Given the description of an element on the screen output the (x, y) to click on. 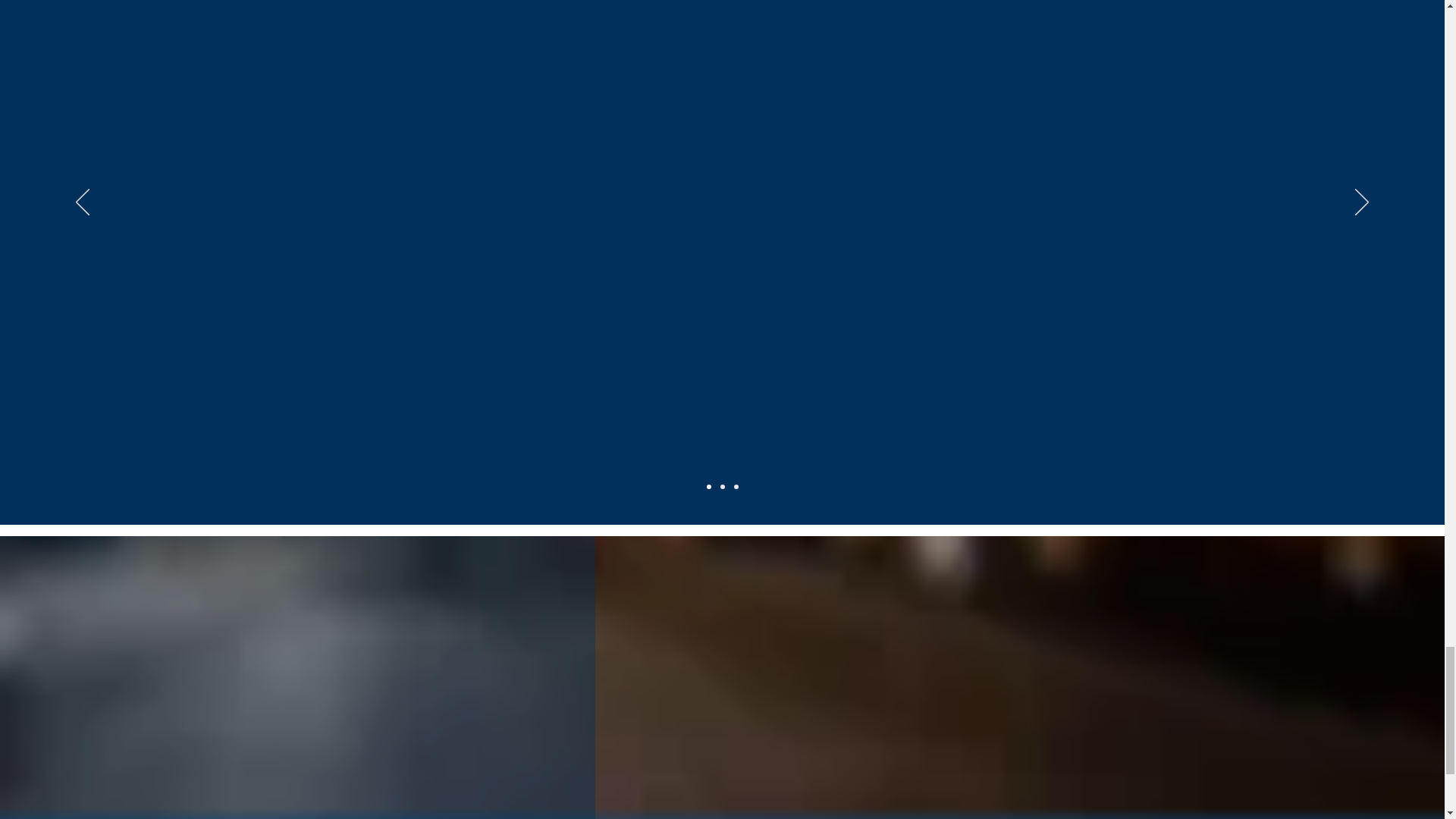
Wix.com (643, 559)
